Given the description of an element on the screen output the (x, y) to click on. 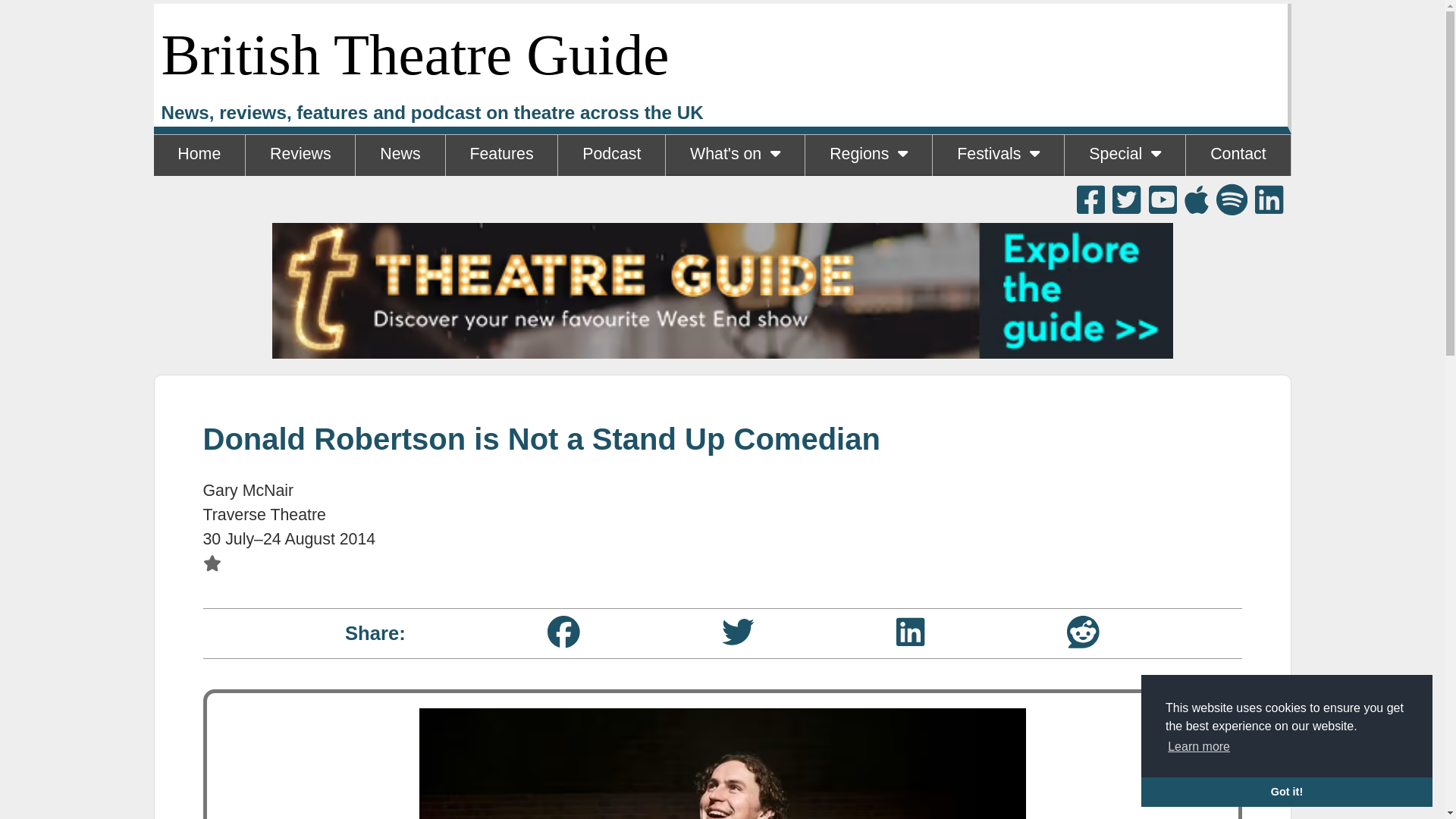
News (399, 154)
Home (198, 154)
What's on   (735, 155)
Regions   (868, 155)
Edinburgh (997, 196)
Reddit (1083, 631)
Listings (734, 196)
Features (501, 154)
Twitter (738, 631)
British Theatre Guide (414, 54)
